Given the description of an element on the screen output the (x, y) to click on. 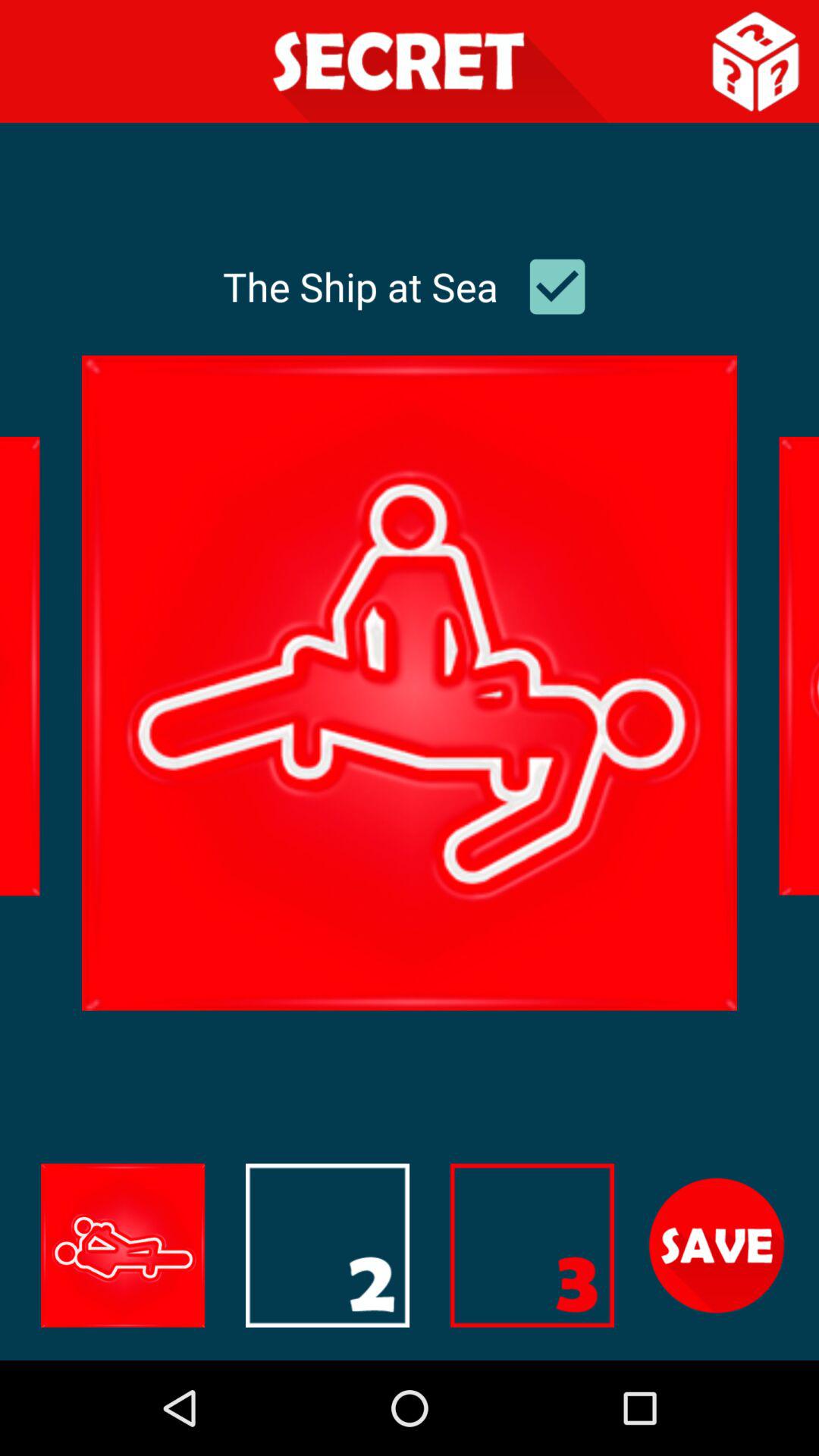
uncheck (557, 286)
